Given the description of an element on the screen output the (x, y) to click on. 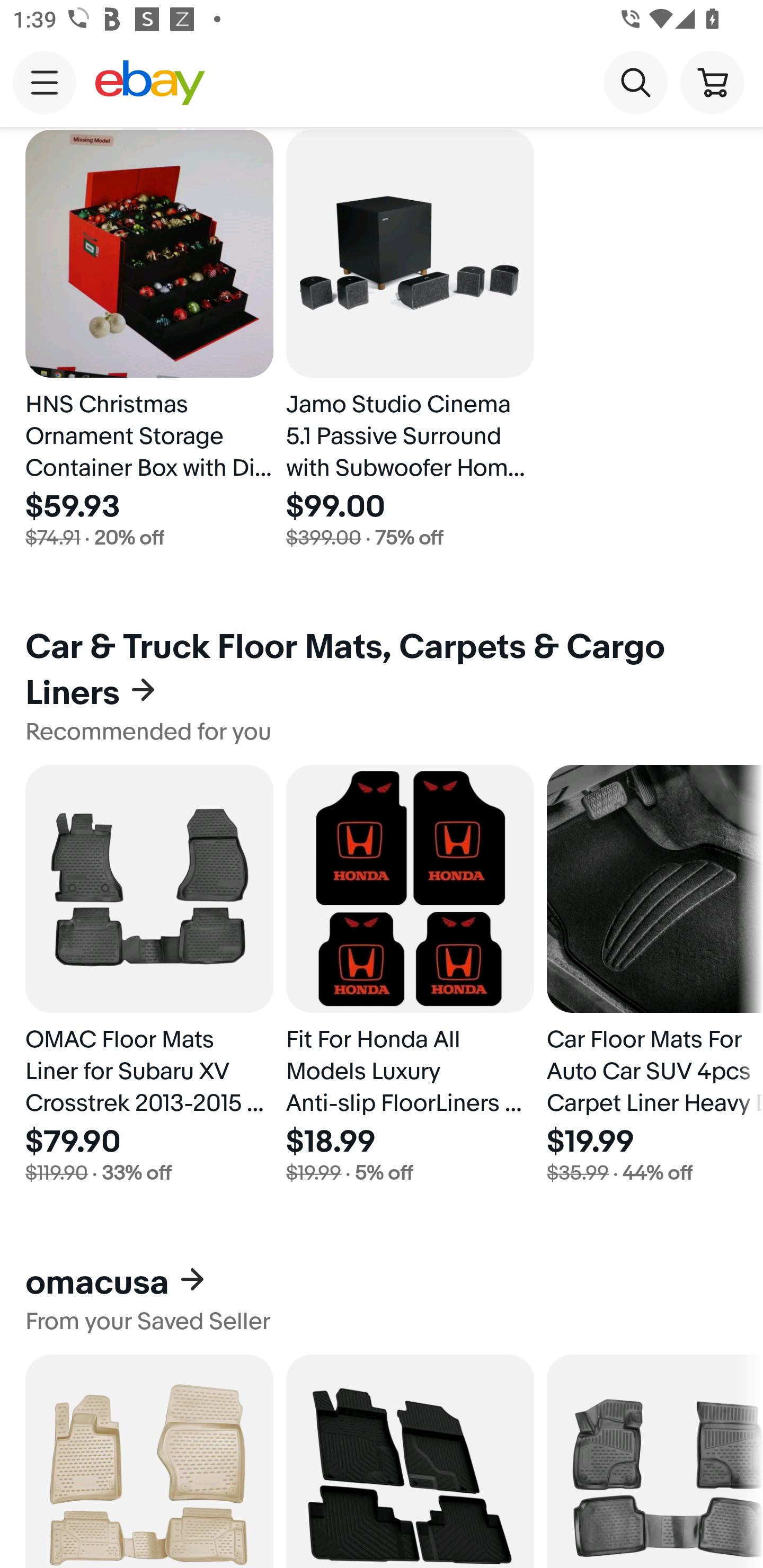
Main navigation, open (44, 82)
Search (635, 81)
Cart button shopping cart (711, 81)
omacusa   From your Saved Seller (381, 1298)
